Given the description of an element on the screen output the (x, y) to click on. 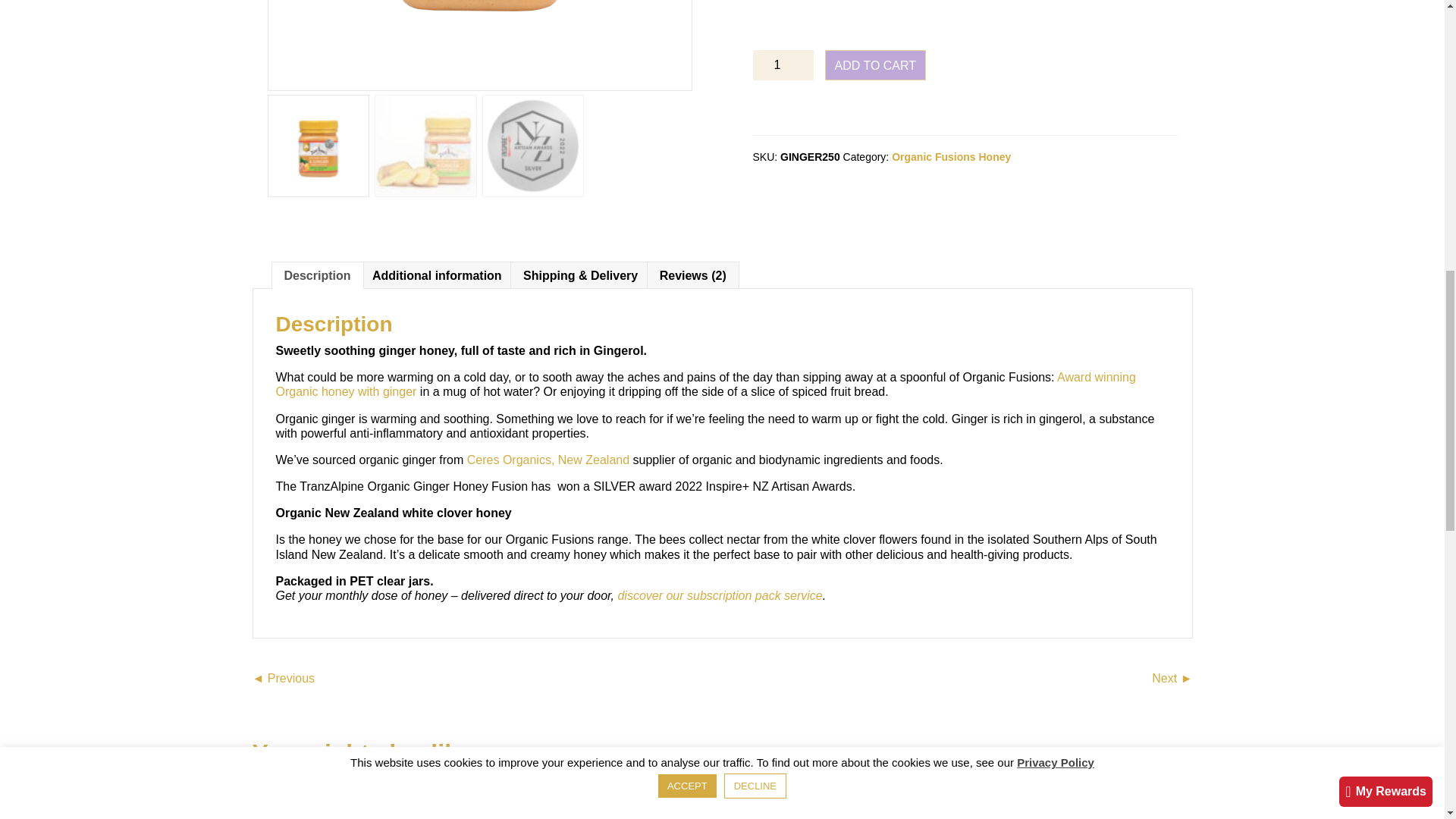
1 (782, 64)
